Given the description of an element on the screen output the (x, y) to click on. 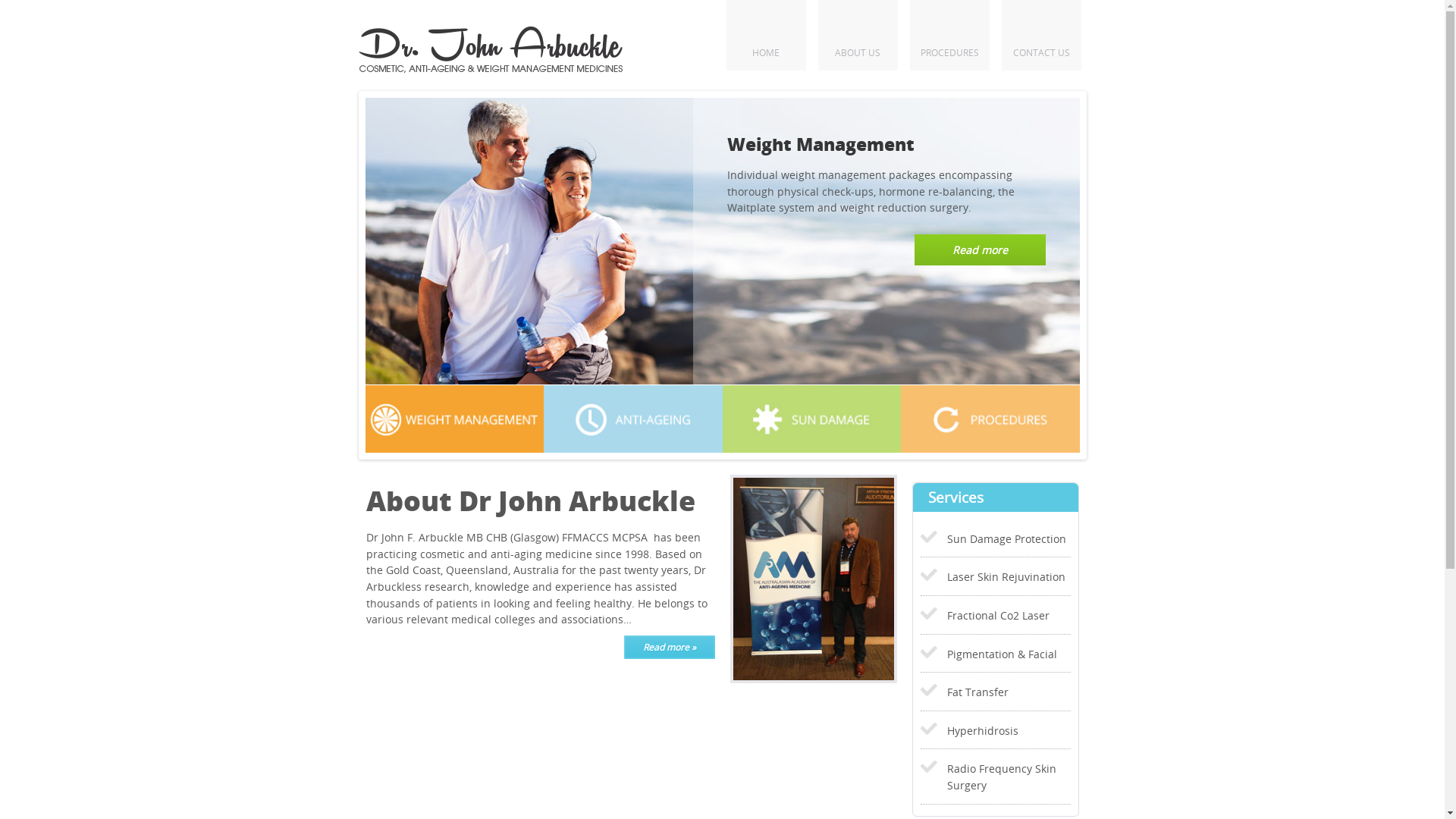
CONTACT US Element type: text (1040, 35)
PROCEDURES Element type: text (949, 35)
HOME Element type: text (766, 35)
ABOUT US Element type: text (857, 35)
Read more Element type: text (979, 249)
